Given the description of an element on the screen output the (x, y) to click on. 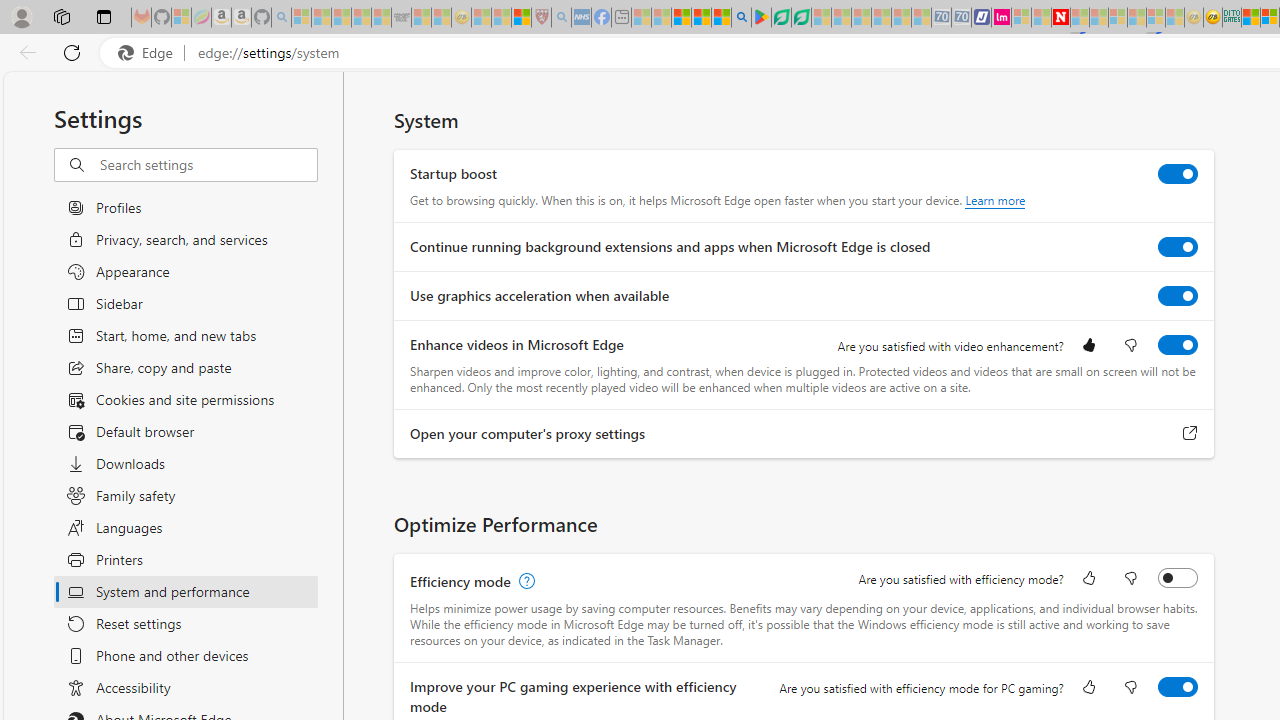
Terms of Use Agreement (781, 17)
New Report Confirms 2023 Was Record Hot | Watch - Sleeping (381, 17)
Startup boost (1178, 174)
